Given the description of an element on the screen output the (x, y) to click on. 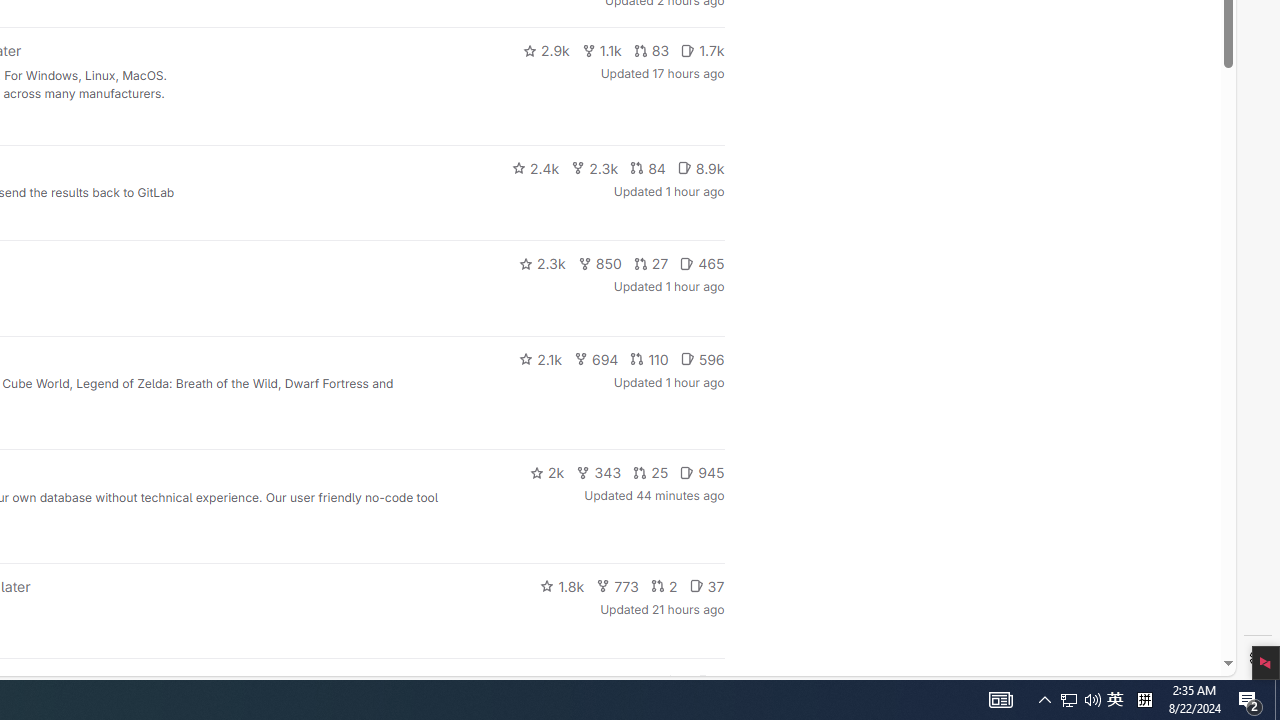
2.1k (539, 358)
1.8k (562, 585)
945 (701, 472)
37 (706, 585)
143 (629, 681)
Class: s14 gl-mr-2 (704, 681)
1 (673, 681)
1.7k (702, 50)
2.3k (541, 263)
465 (701, 263)
850 (599, 263)
694 (596, 358)
1.4k (573, 681)
2 (664, 585)
